Given the description of an element on the screen output the (x, y) to click on. 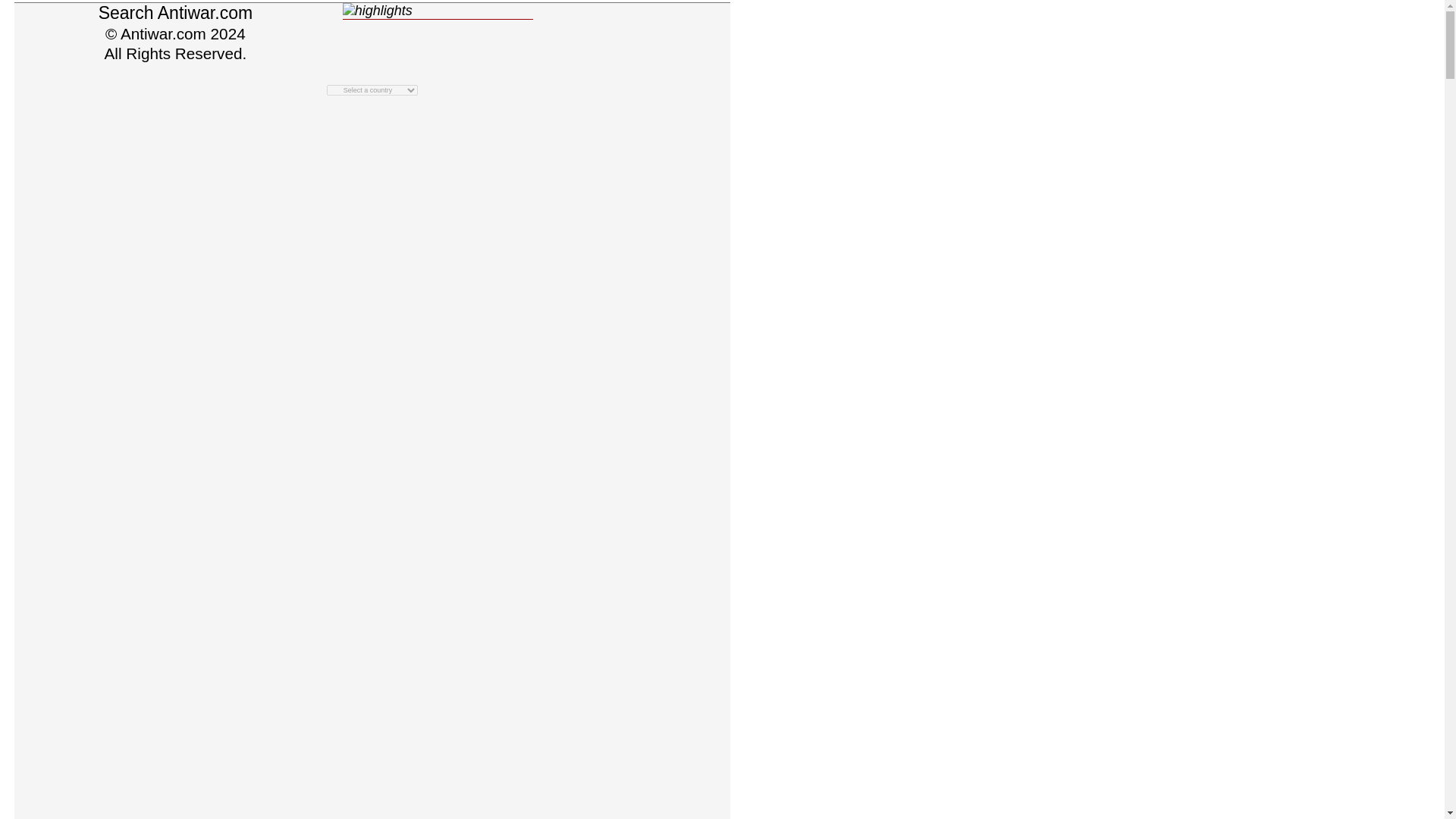
Latest News (372, 132)
About Antiwar.com (234, 10)
Antiwar Radio (372, 34)
Viewpoints (372, 146)
Reprint Policy (372, 265)
Privacy Policy (372, 318)
Latest News (556, 10)
Randolph Bourne Institute (372, 331)
RSS (372, 304)
Shop Antiwar.com (372, 223)
Contact (489, 10)
US Casualties (421, 10)
Home (157, 10)
Donate (313, 10)
Regional News (372, 78)
